Given the description of an element on the screen output the (x, y) to click on. 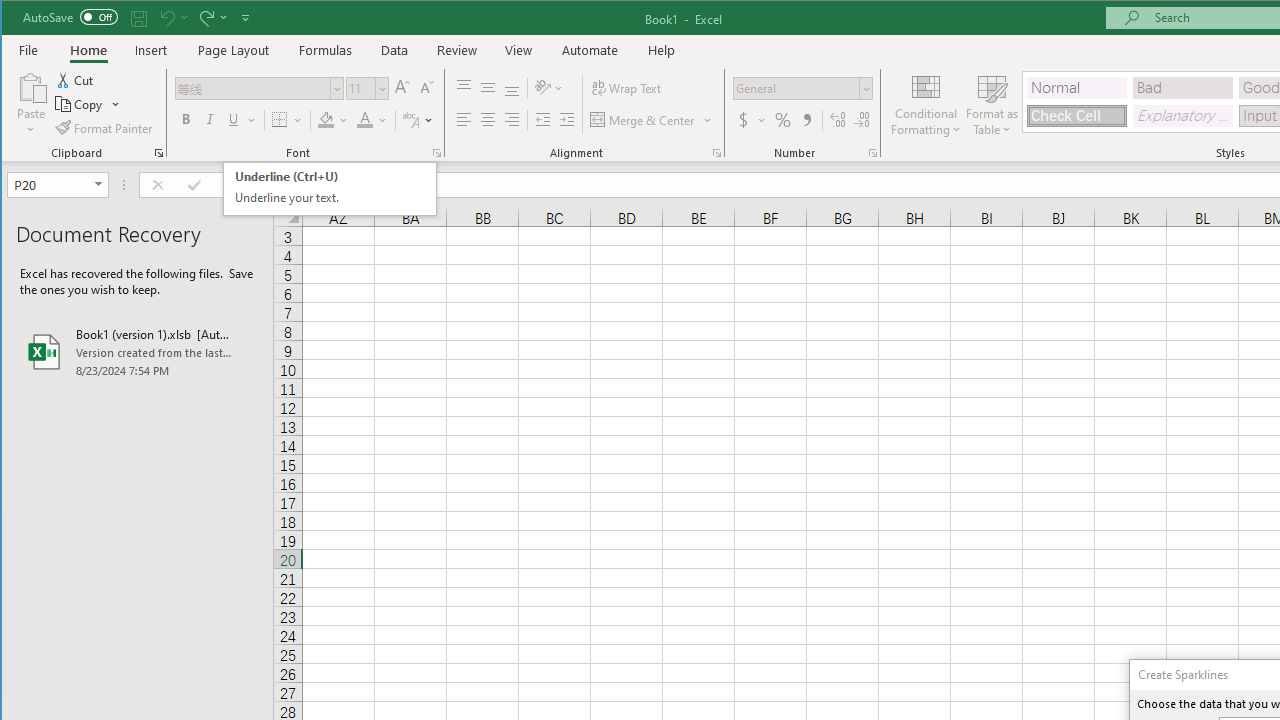
Underline (233, 119)
Format Cell Alignment (716, 152)
Paste (31, 86)
Increase Font Size (401, 88)
Fill Color RGB(255, 255, 0) (325, 119)
Align Right (511, 119)
Accounting Number Format (744, 119)
Italic (209, 119)
Borders (286, 119)
Wrap Text (627, 88)
Decrease Font Size (425, 88)
Underline (240, 119)
